Given the description of an element on the screen output the (x, y) to click on. 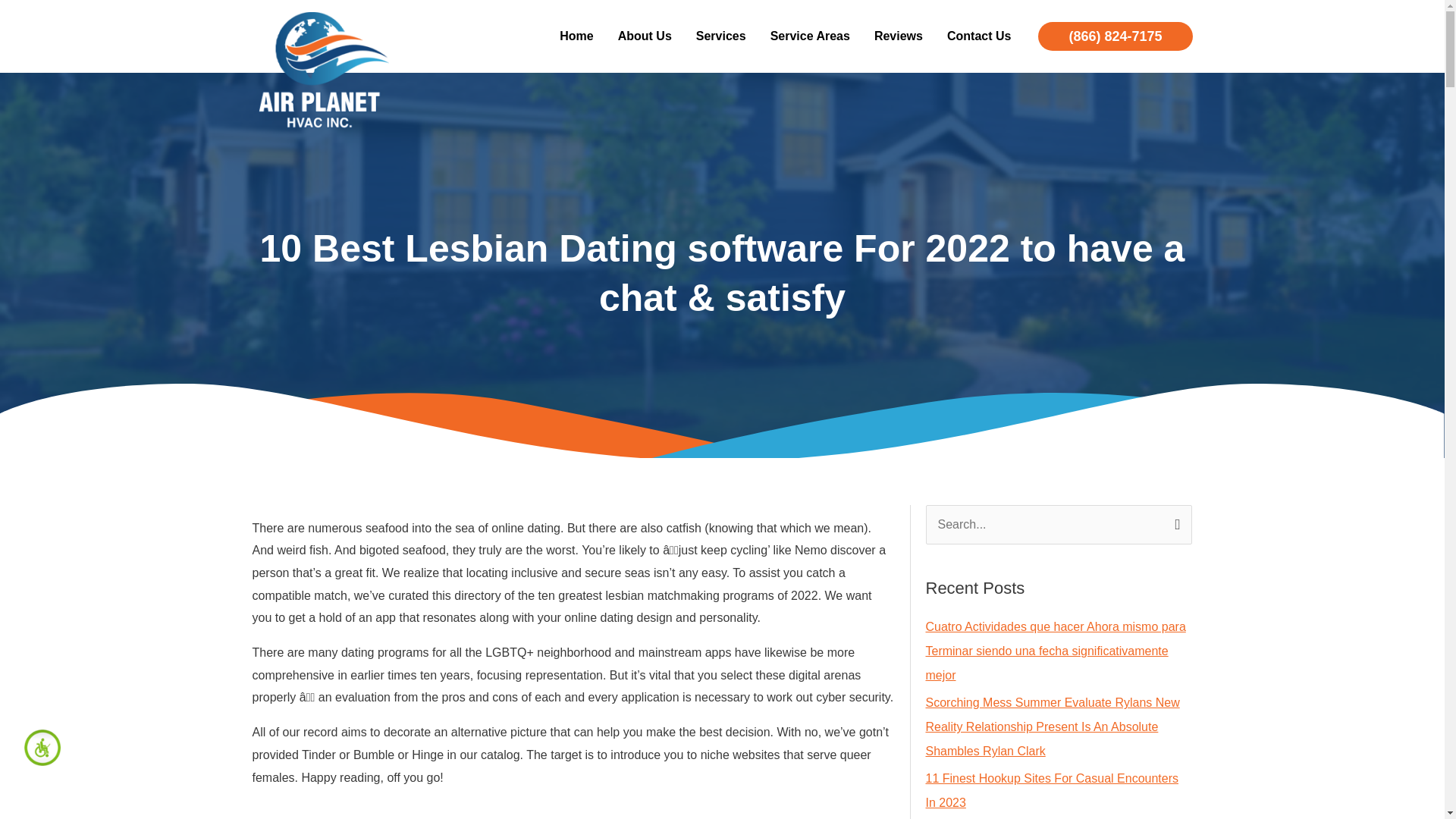
Services (721, 36)
Search (1174, 521)
Home (576, 36)
Search (1174, 521)
About Us (644, 36)
